Given the description of an element on the screen output the (x, y) to click on. 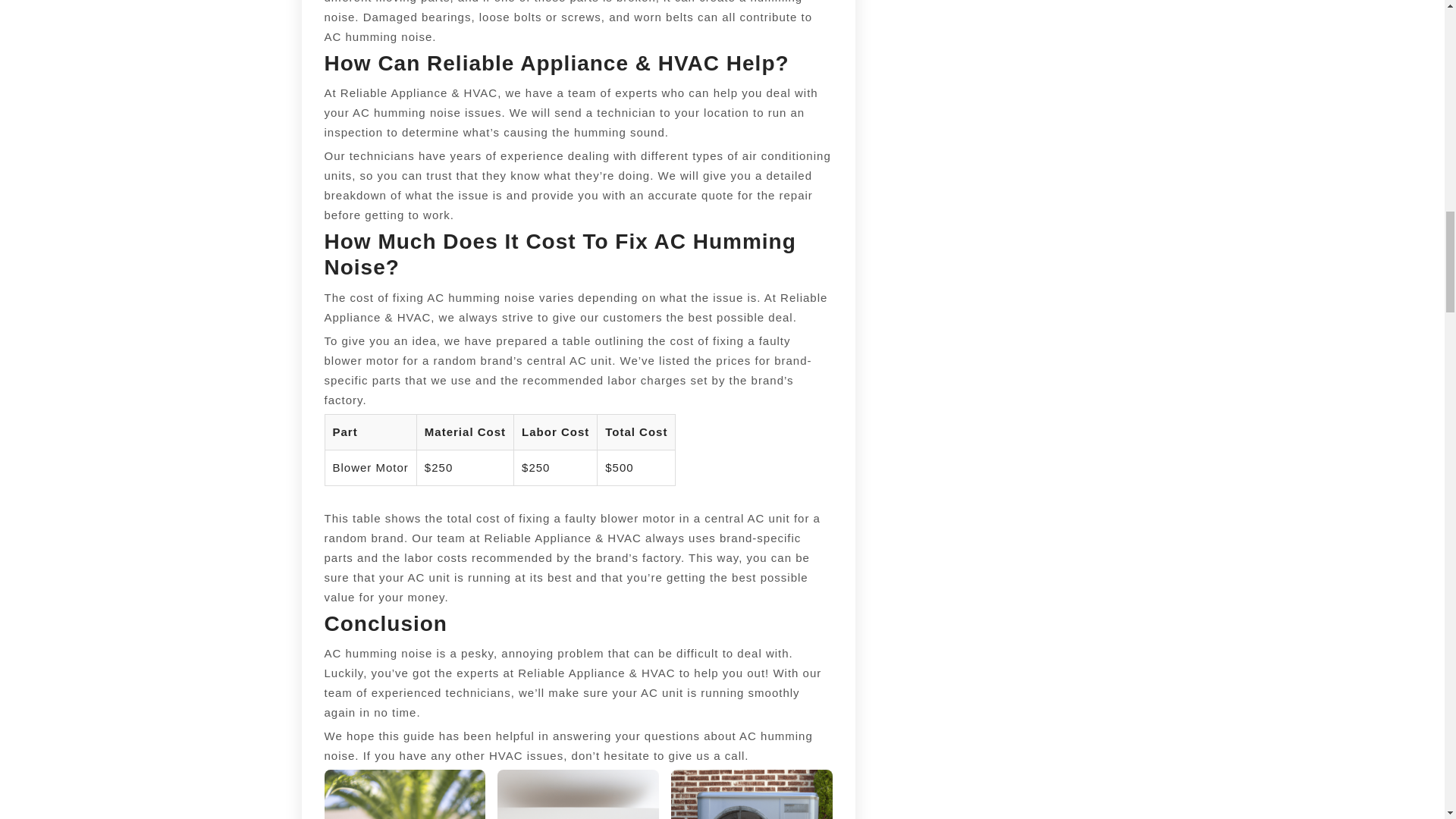
AC Making Humming Noise Due to Bad Capacitor (405, 794)
AC Making Humming Noise Due to Bad Capacitor (578, 794)
AC Making Humming Noise Due to Bad Capacitor (751, 794)
